Given the description of an element on the screen output the (x, y) to click on. 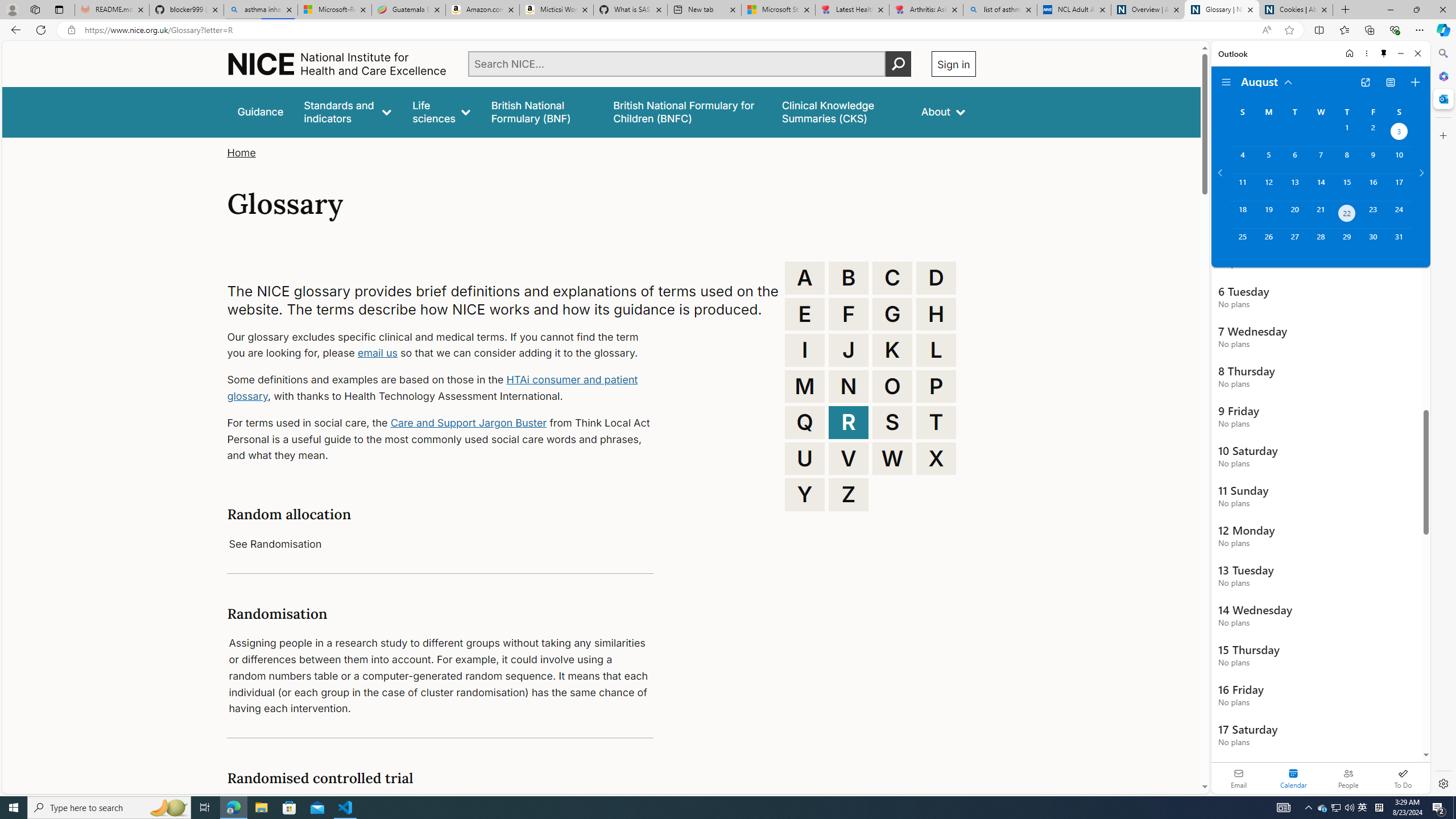
Workspaces (34, 9)
Tuesday, August 27, 2024.  (1294, 241)
D (935, 277)
N (848, 385)
Sunday, August 4, 2024.  (1242, 159)
X (935, 458)
C (892, 277)
Restore (1416, 9)
Z (848, 494)
People (1347, 777)
